Given the description of an element on the screen output the (x, y) to click on. 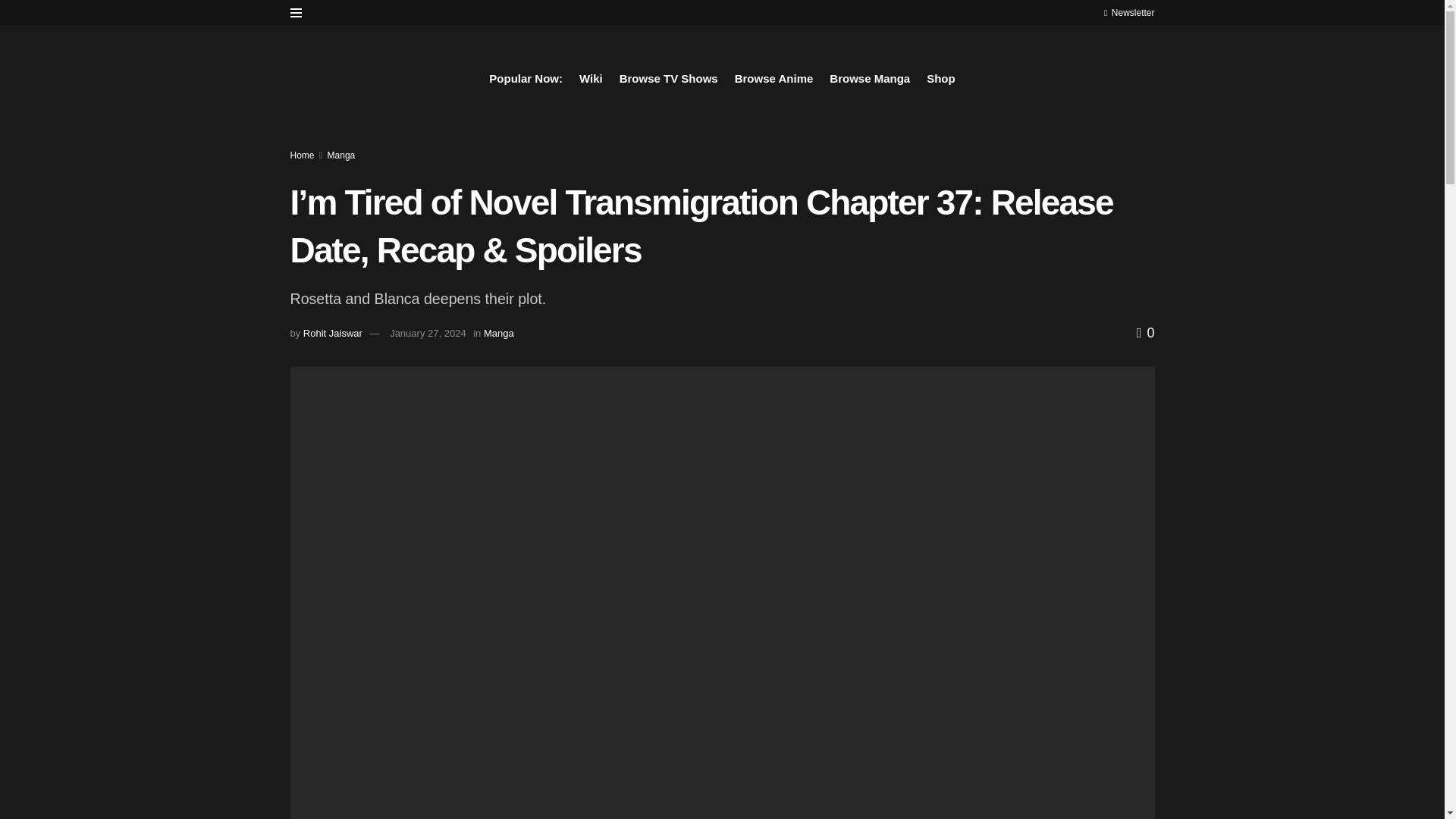
Browse Anime (774, 78)
Browse TV Shows (668, 78)
Popular Now: (525, 78)
0 (1145, 332)
Rohit Jaiswar (332, 333)
Newsletter (1128, 12)
January 27, 2024 (427, 333)
Browse Manga (869, 78)
Home (301, 154)
Manga (341, 154)
